Given the description of an element on the screen output the (x, y) to click on. 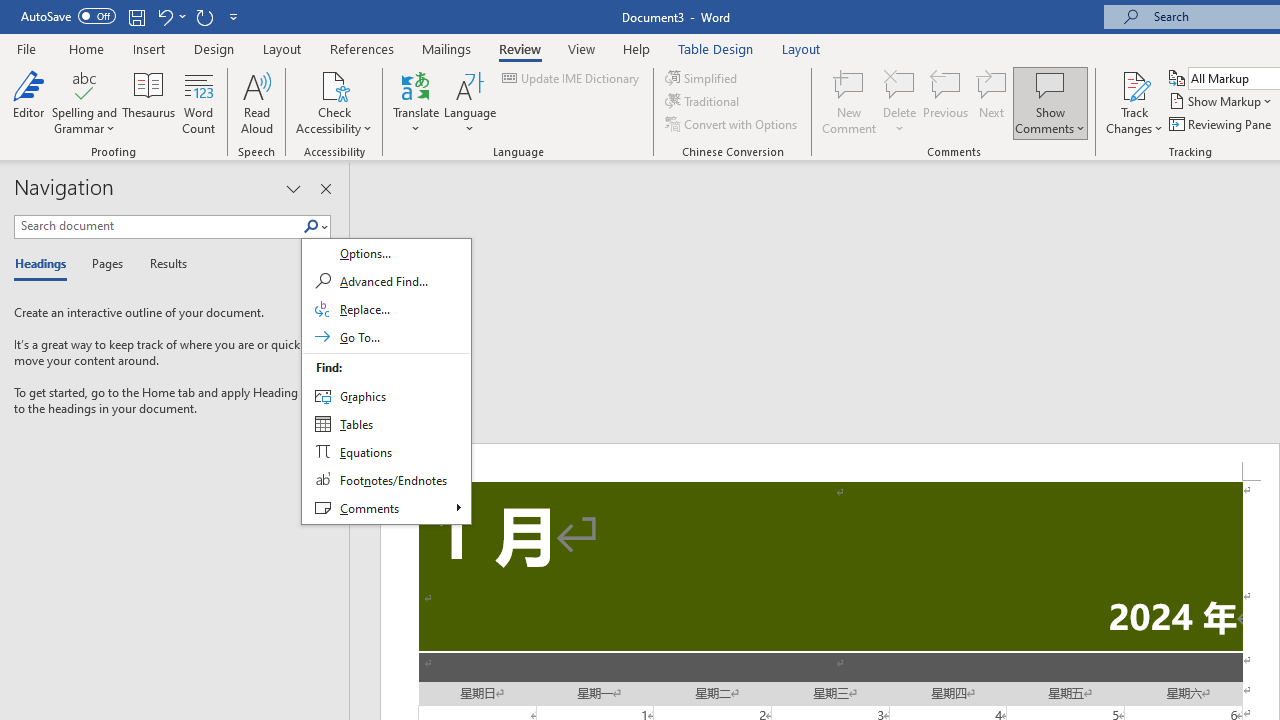
Thesaurus... (148, 102)
Language (470, 102)
Traditional (703, 101)
Undo Increase Indent (164, 15)
Read Aloud (256, 102)
Track Changes (1134, 102)
Delete (900, 84)
